Given the description of an element on the screen output the (x, y) to click on. 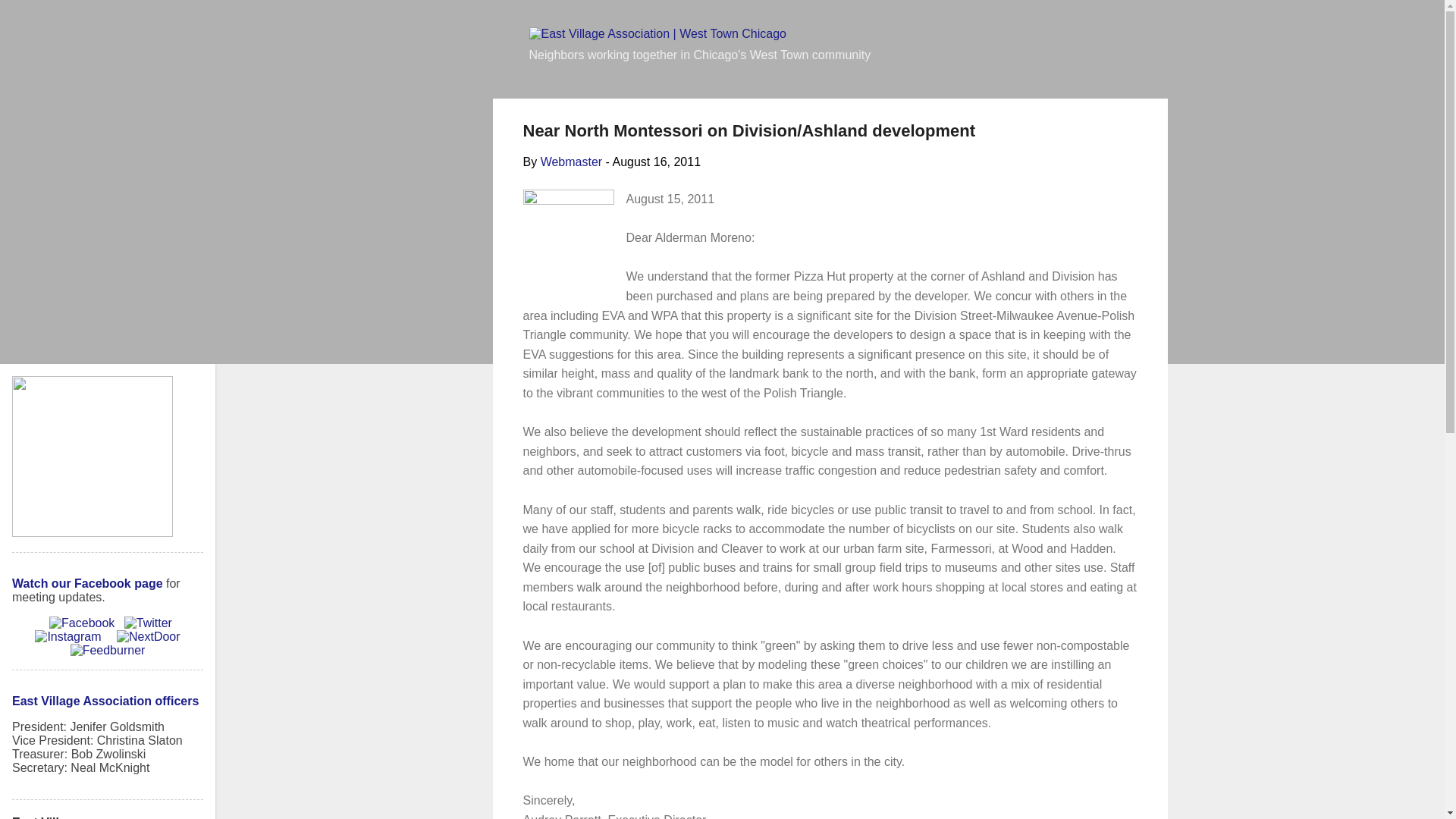
Webmaster (571, 161)
author profile (571, 161)
Watch our Facebook page (87, 583)
August 16, 2011 (655, 161)
permanent link (655, 161)
Search (32, 18)
